Given the description of an element on the screen output the (x, y) to click on. 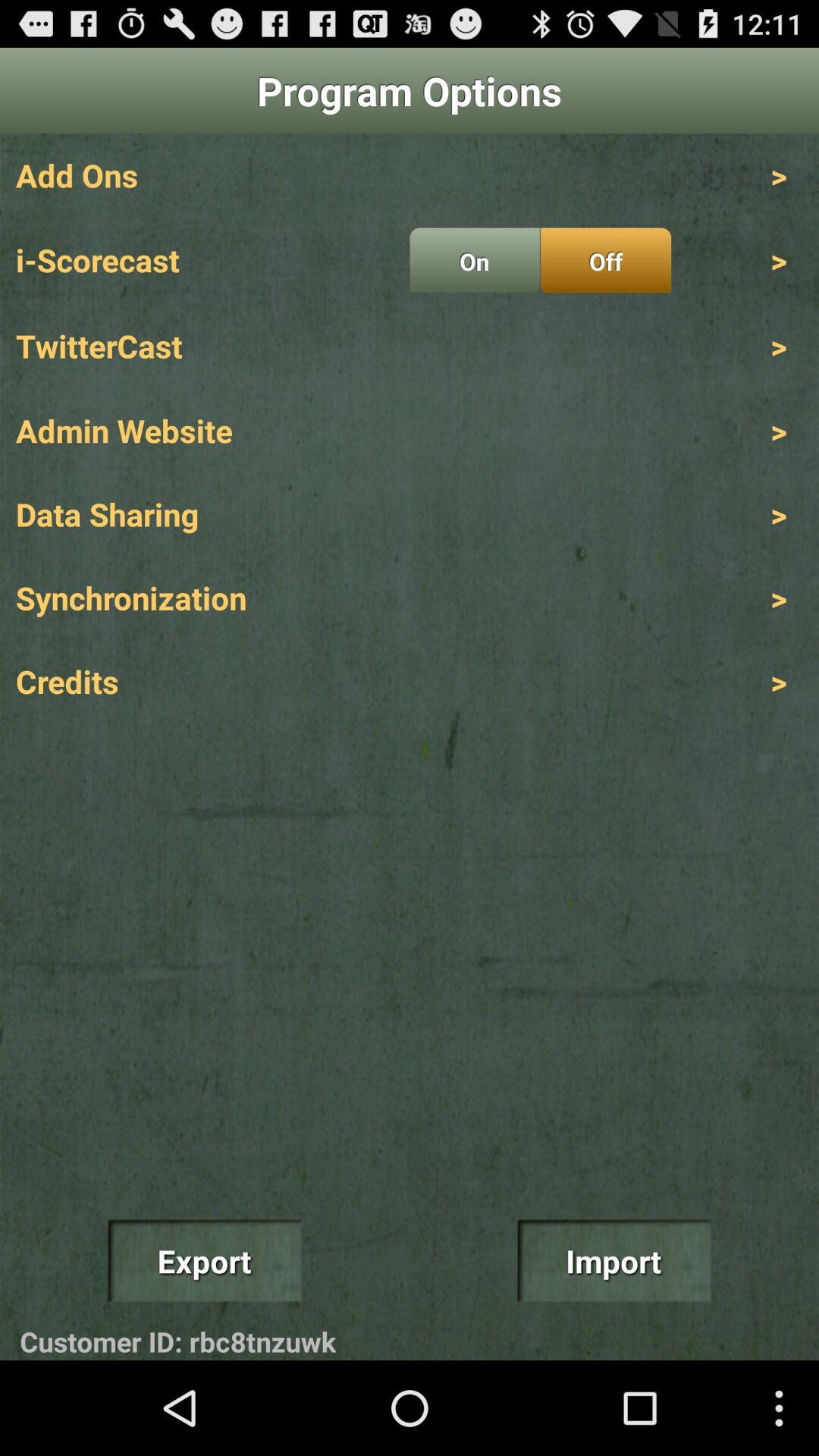
launch app to the left of the > (605, 259)
